Given the description of an element on the screen output the (x, y) to click on. 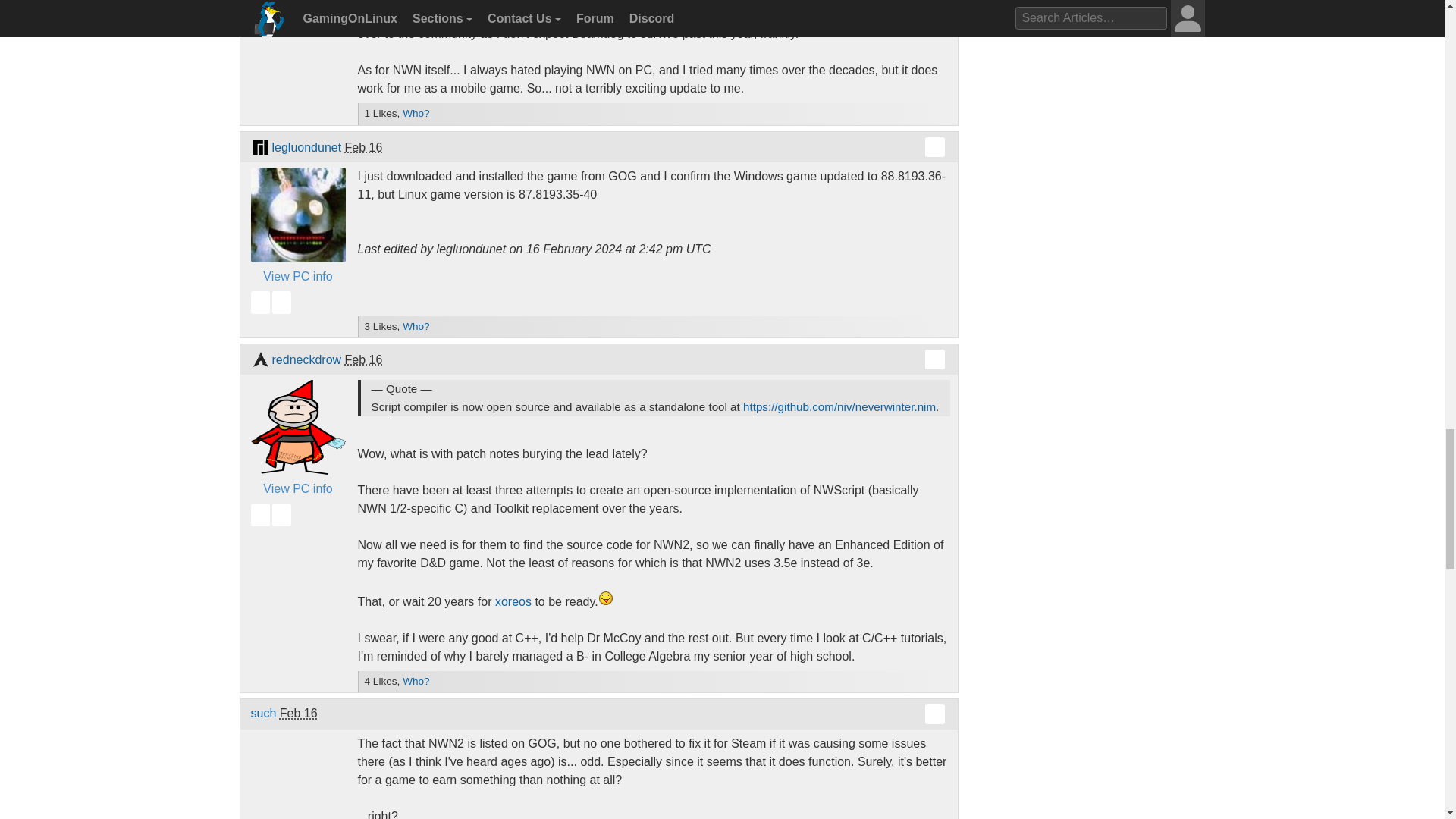
Manjaro (259, 147)
